Given the description of an element on the screen output the (x, y) to click on. 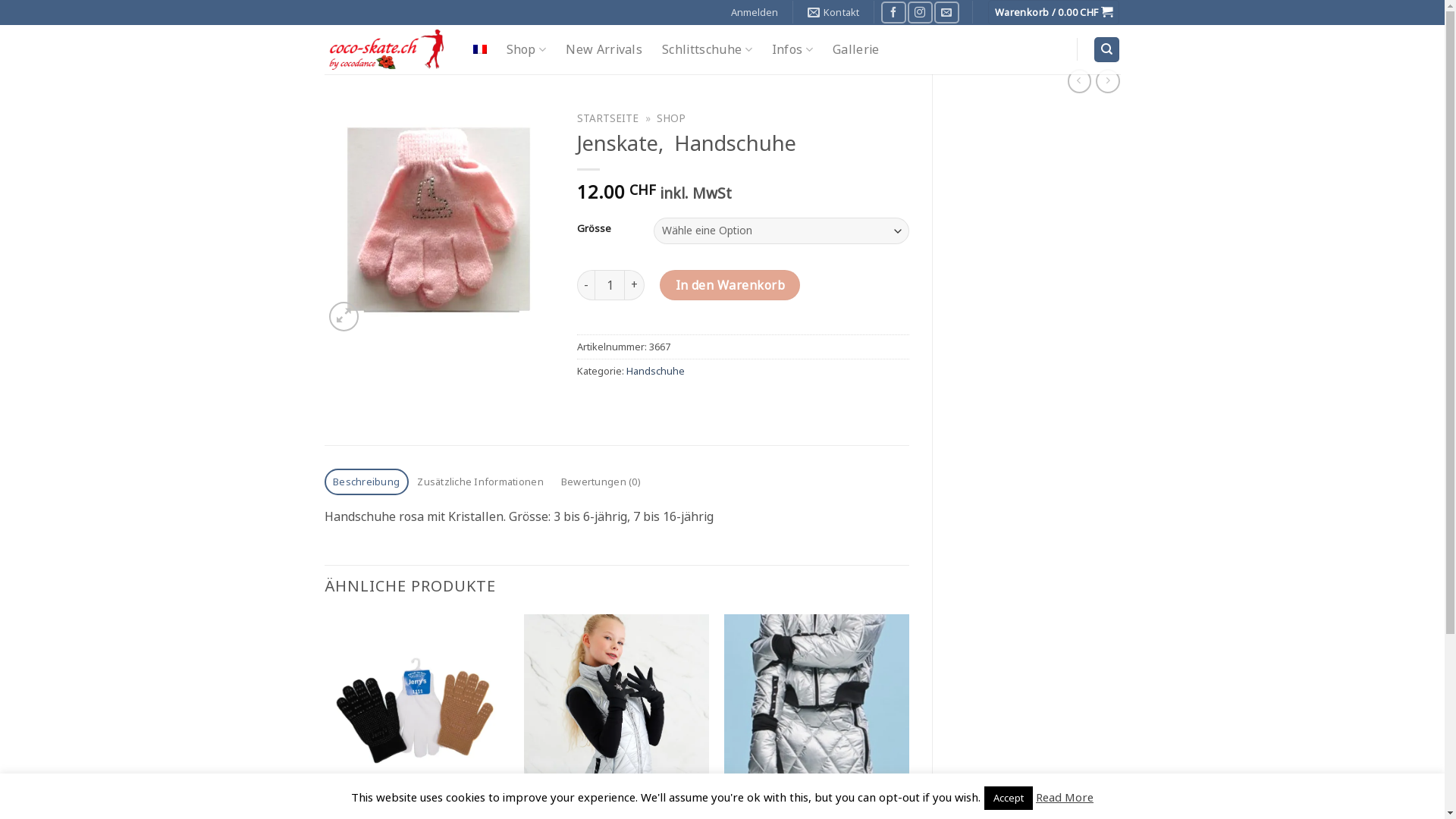
Accept Element type: text (1008, 797)
Gallerie Element type: text (855, 49)
New Arrivals Element type: text (603, 49)
Anmelden Element type: text (754, 11)
Bewertungen (0) Element type: text (600, 481)
Beschreibung Element type: text (366, 481)
Warenkorb / 0.00 CHF Element type: text (1053, 12)
Auf Instagram folgen Element type: hover (919, 12)
Kontakt Element type: text (833, 11)
Auf Facebook folgen Element type: hover (893, 12)
Infos Element type: text (791, 49)
Sende uns eine E-Mail Element type: hover (946, 12)
coco-skate - Alles Rund ums Eislaufen und mehr ! Element type: hover (387, 48)
3667 Element type: hover (439, 219)
SHOP Element type: text (670, 117)
Zoom Element type: hover (343, 316)
Schlittschuhe Element type: text (707, 49)
Handschuhe Element type: text (655, 370)
Read More Element type: text (1064, 796)
STARTSEITE Element type: text (607, 117)
In den Warenkorb Element type: text (729, 284)
Shop Element type: text (526, 49)
